Given the description of an element on the screen output the (x, y) to click on. 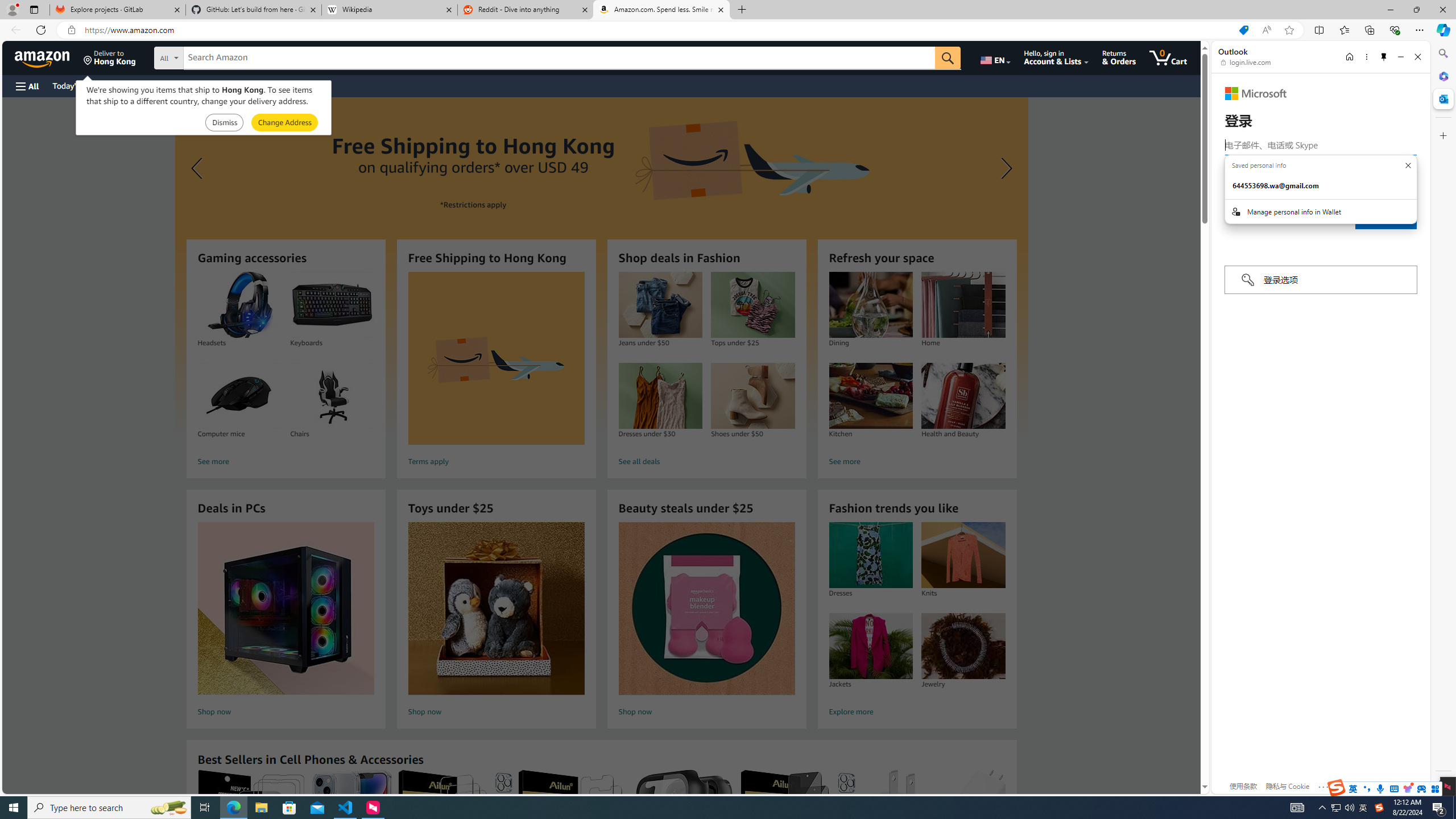
Choose a language for shopping. (995, 57)
Search Amazon (559, 57)
Microsoft (1255, 93)
Toys under $25 (496, 608)
Previous slide (198, 168)
Tops under $25 (753, 304)
Jewelry (963, 645)
Amazon.com. Spend less. Smile more. (660, 9)
Jeans under $50 (660, 304)
